Given the description of an element on the screen output the (x, y) to click on. 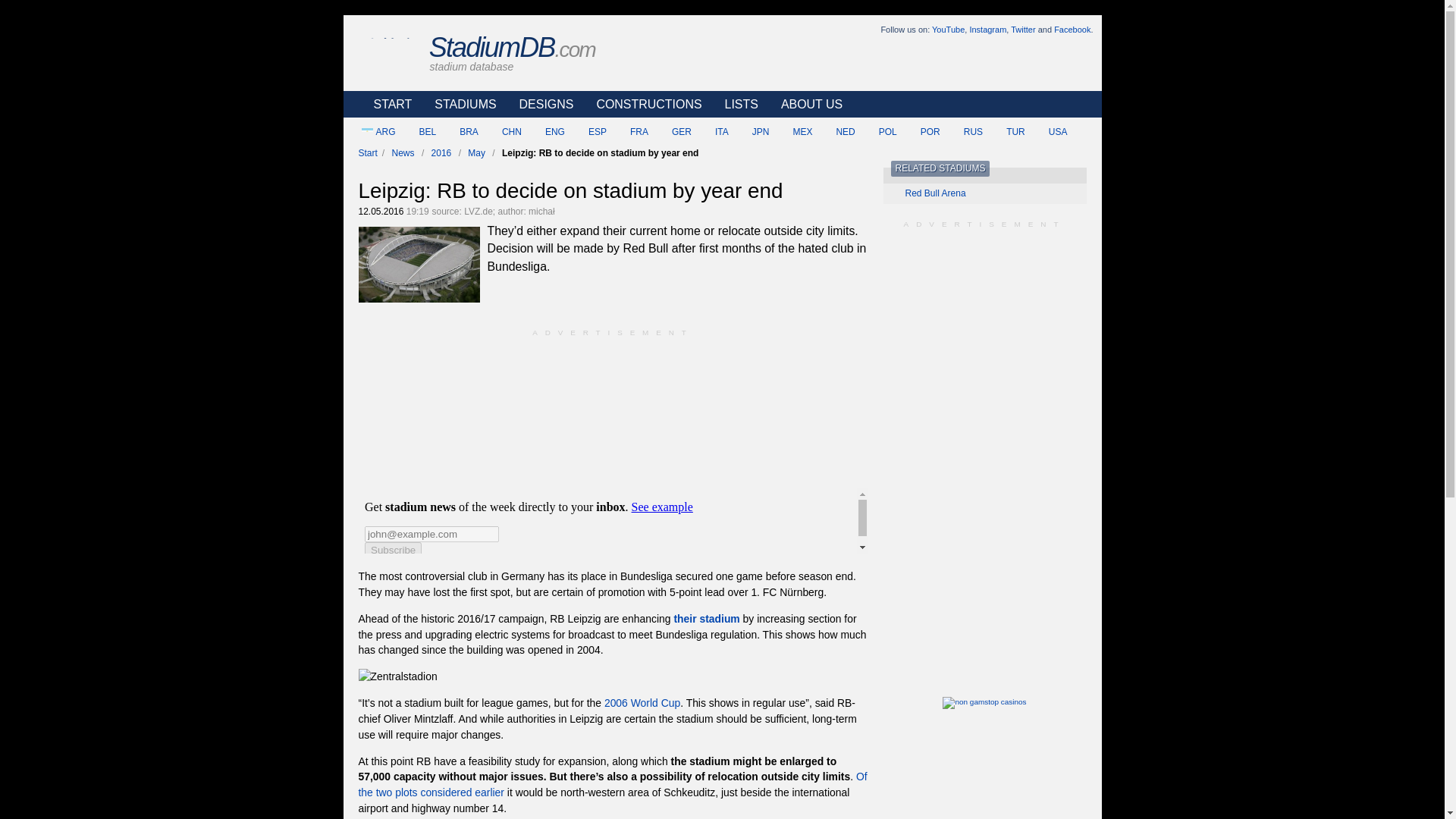
STADIUMS (461, 103)
FRA (631, 131)
TUR (1007, 131)
ABOUT US (807, 103)
ENG (547, 131)
BRA (461, 131)
POL (880, 131)
LISTS (737, 103)
Start (367, 153)
ITA (714, 131)
Instagram (987, 29)
ESP (590, 131)
their stadium (705, 618)
CHN (504, 131)
NED (837, 131)
